Given the description of an element on the screen output the (x, y) to click on. 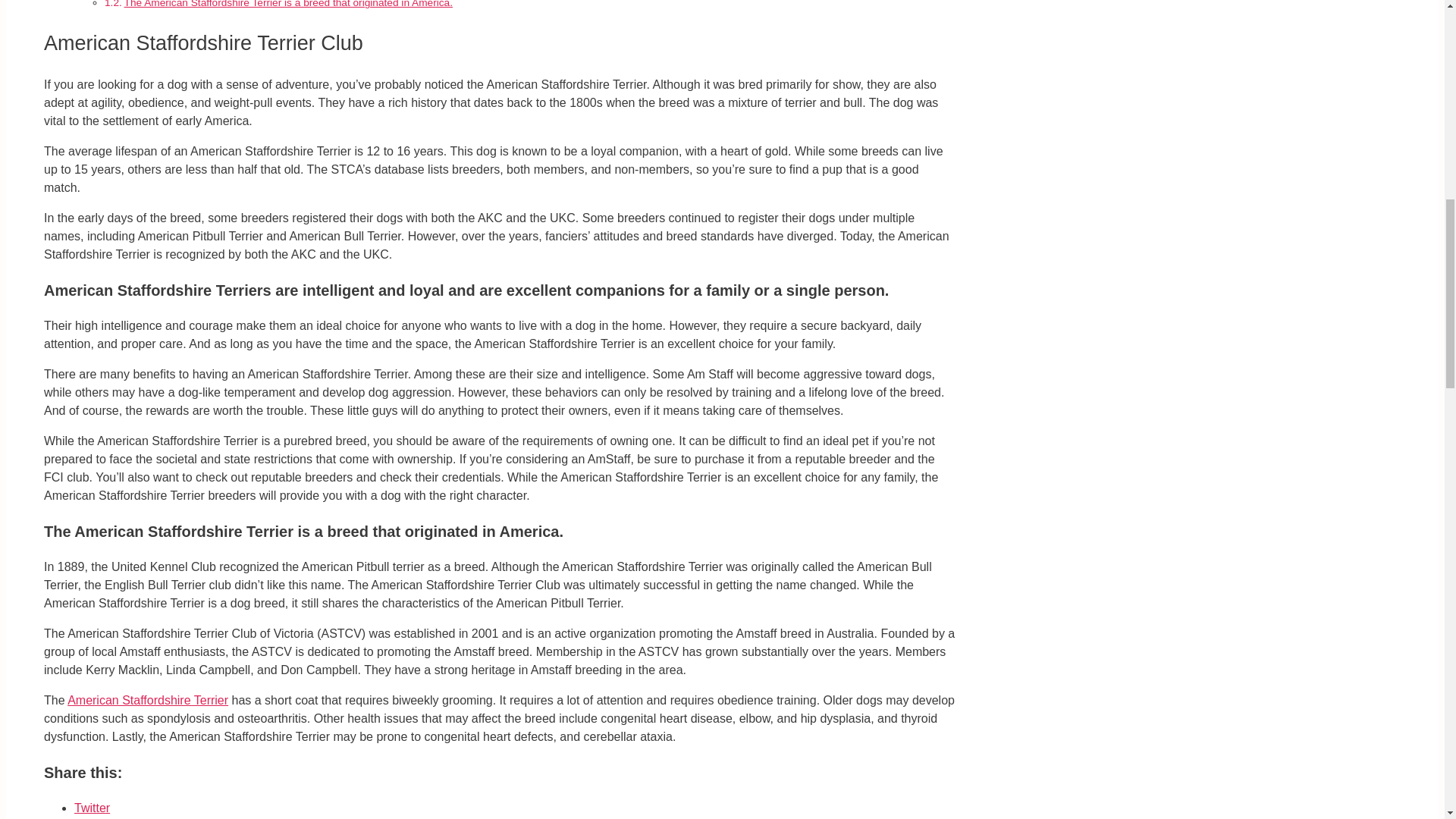
Click to share on Twitter (92, 807)
American Staffordshire Terrier (147, 699)
Twitter (92, 807)
